Given the description of an element on the screen output the (x, y) to click on. 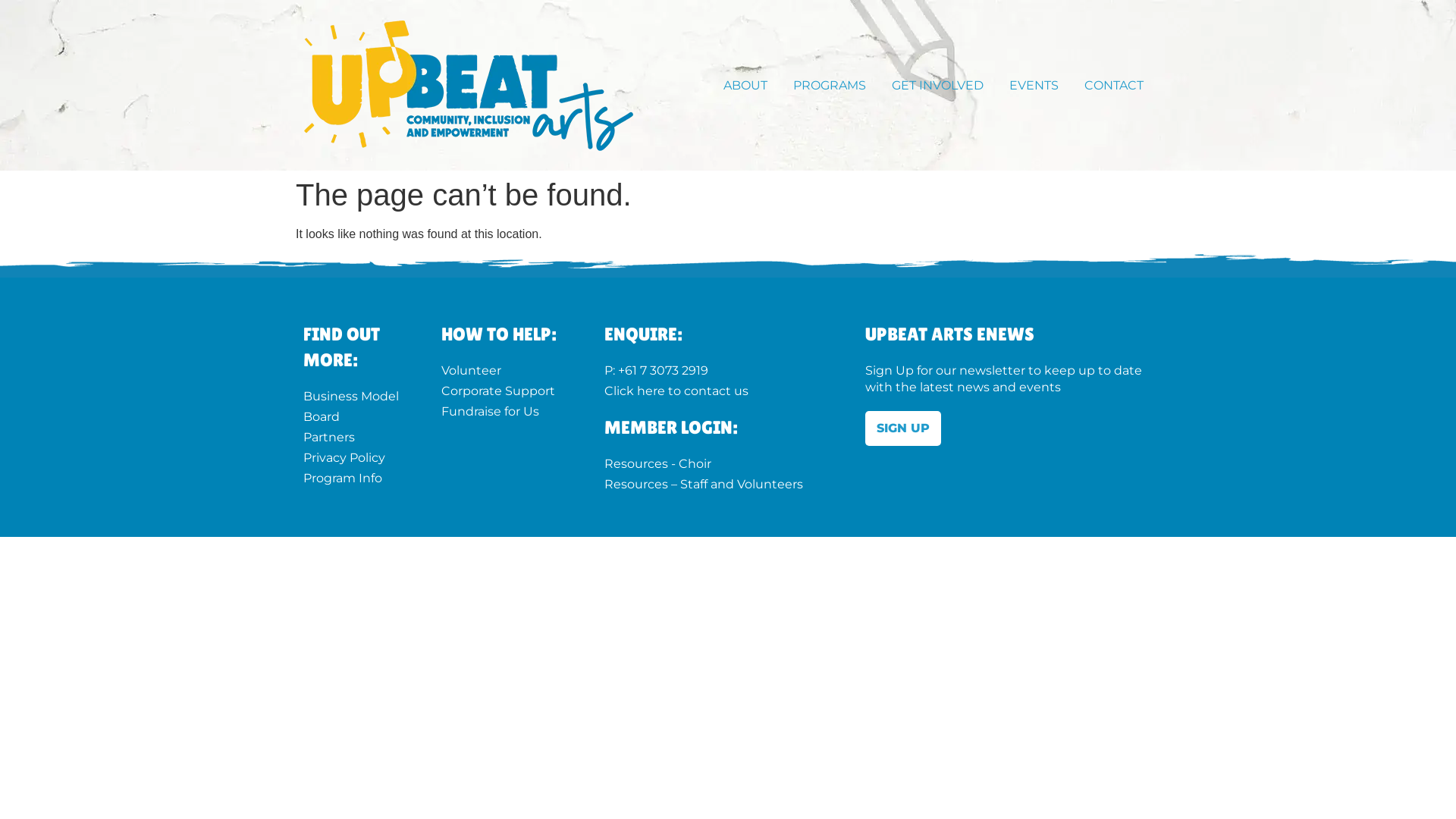
CONTACT Element type: text (1113, 84)
Click here to contact us Element type: text (719, 390)
Business Model Element type: text (357, 396)
GET INVOLVED Element type: text (941, 84)
EVENTS Element type: text (1037, 84)
Privacy Policy Element type: text (357, 457)
P: +61 7 3073 2919 Element type: text (719, 370)
Partners Element type: text (357, 437)
Resources - Choir Element type: text (719, 463)
SIGN UP Element type: text (903, 428)
PROGRAMS Element type: text (833, 84)
Board Element type: text (357, 416)
Volunteer Element type: text (507, 370)
ABOUT Element type: text (749, 84)
Fundraise for Us Element type: text (507, 411)
Program Info Element type: text (357, 478)
Corporate Support Element type: text (507, 390)
